Given the description of an element on the screen output the (x, y) to click on. 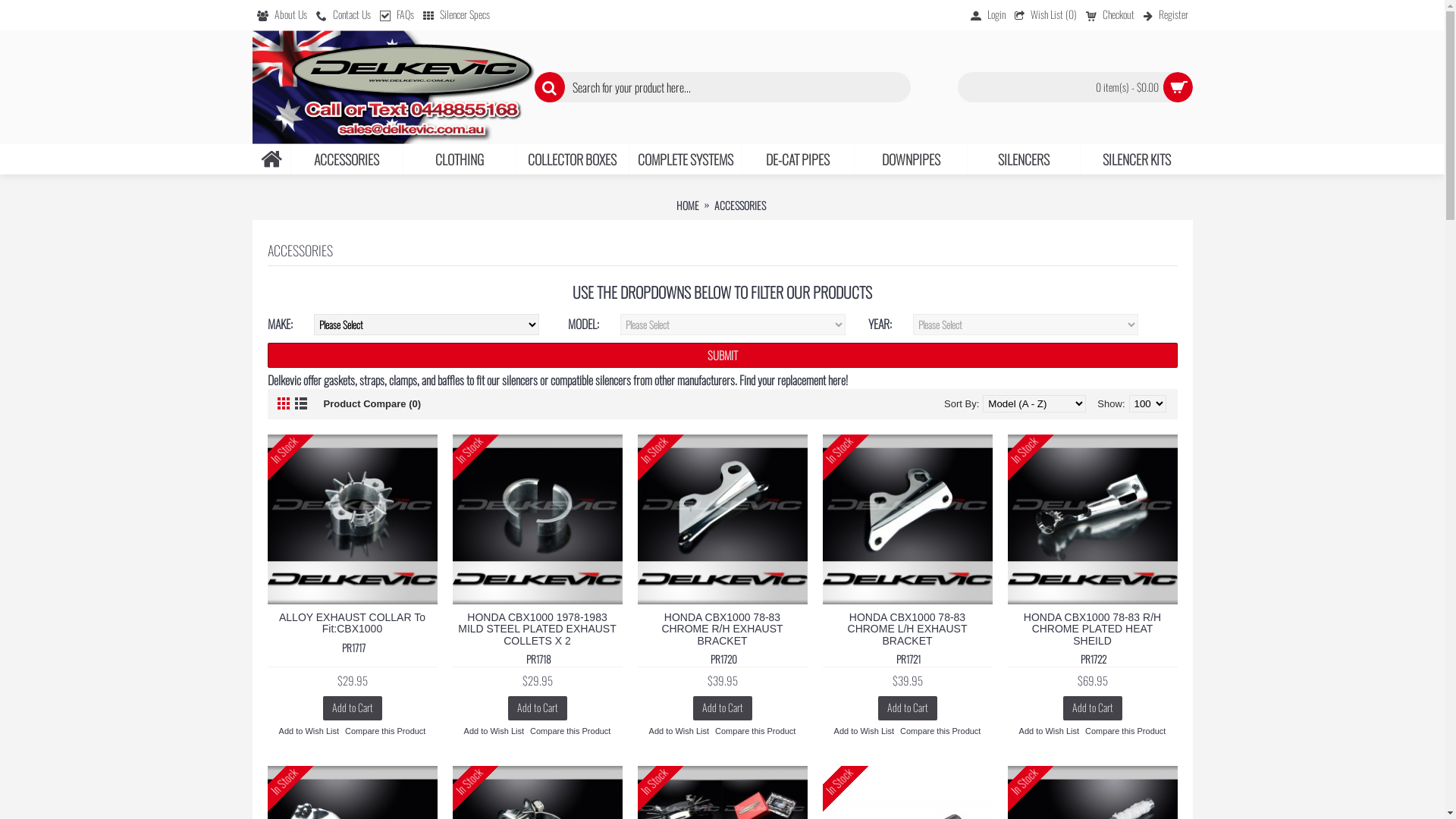
Add to Wish List Element type: text (1049, 731)
Register Element type: text (1165, 15)
FAQs Element type: text (395, 15)
SILENCER KITS Element type: text (1136, 159)
Contact Us Element type: text (342, 15)
Add to Wish List Element type: text (308, 731)
Compare this Product Element type: text (755, 731)
Add to Cart Element type: text (722, 708)
Add to Cart Element type: text (352, 708)
Silencer Specs Element type: text (456, 15)
0 item(s) - $0.00 Element type: text (1074, 87)
About Us Element type: text (280, 15)
Add to Cart Element type: text (537, 708)
HONDA CBX1000 78-83 CHROME R/H EXHAUST BRACKET Element type: hover (721, 519)
DOWNPIPES Element type: text (910, 159)
HONDA CBX1000 78-83 CHROME L/H EXHAUST BRACKET Element type: text (906, 628)
ACCESSORIES Element type: text (347, 159)
HONDA CBX1000 78-83 CHROME L/H EXHAUST BRACKET Element type: hover (906, 519)
HONDA CBX1000 78-83 CHROME R/H EXHAUST BRACKET Element type: text (721, 628)
HONDA CBX1000 78-83 R/H CHROME PLATED HEAT SHEILD Element type: hover (1091, 519)
ALLOY EXHAUST COLLAR To Fit:CBX1000 Element type: hover (351, 519)
Add to Wish List Element type: text (864, 731)
Add to Cart Element type: text (907, 708)
DE-CAT PIPES Element type: text (797, 159)
HONDA CBX1000 78-83 R/H CHROME PLATED HEAT SHEILD Element type: text (1091, 628)
ALLOY EXHAUST COLLAR To Fit:CBX1000 Element type: text (351, 622)
Compare this Product Element type: text (1125, 731)
Wish List (0) Element type: text (1045, 15)
HOME Element type: text (687, 205)
Checkout Element type: text (1110, 15)
Add to Wish List Element type: text (679, 731)
ACCESSORIES Element type: text (739, 205)
COMPLETE SYSTEMS Element type: text (685, 159)
Add to Wish List Element type: text (494, 731)
SUBMIT Element type: text (721, 354)
CLOTHING Element type: text (459, 159)
Compare this Product Element type: text (570, 731)
COLLECTOR BOXES Element type: text (572, 159)
SILENCERS Element type: text (1023, 159)
Compare this Product Element type: text (385, 731)
Login Element type: text (988, 15)
Add to Cart Element type: text (1092, 708)
Delkevic Australia Element type: hover (392, 87)
Compare this Product Element type: text (940, 731)
Product Compare (0) Element type: text (371, 403)
